Given the description of an element on the screen output the (x, y) to click on. 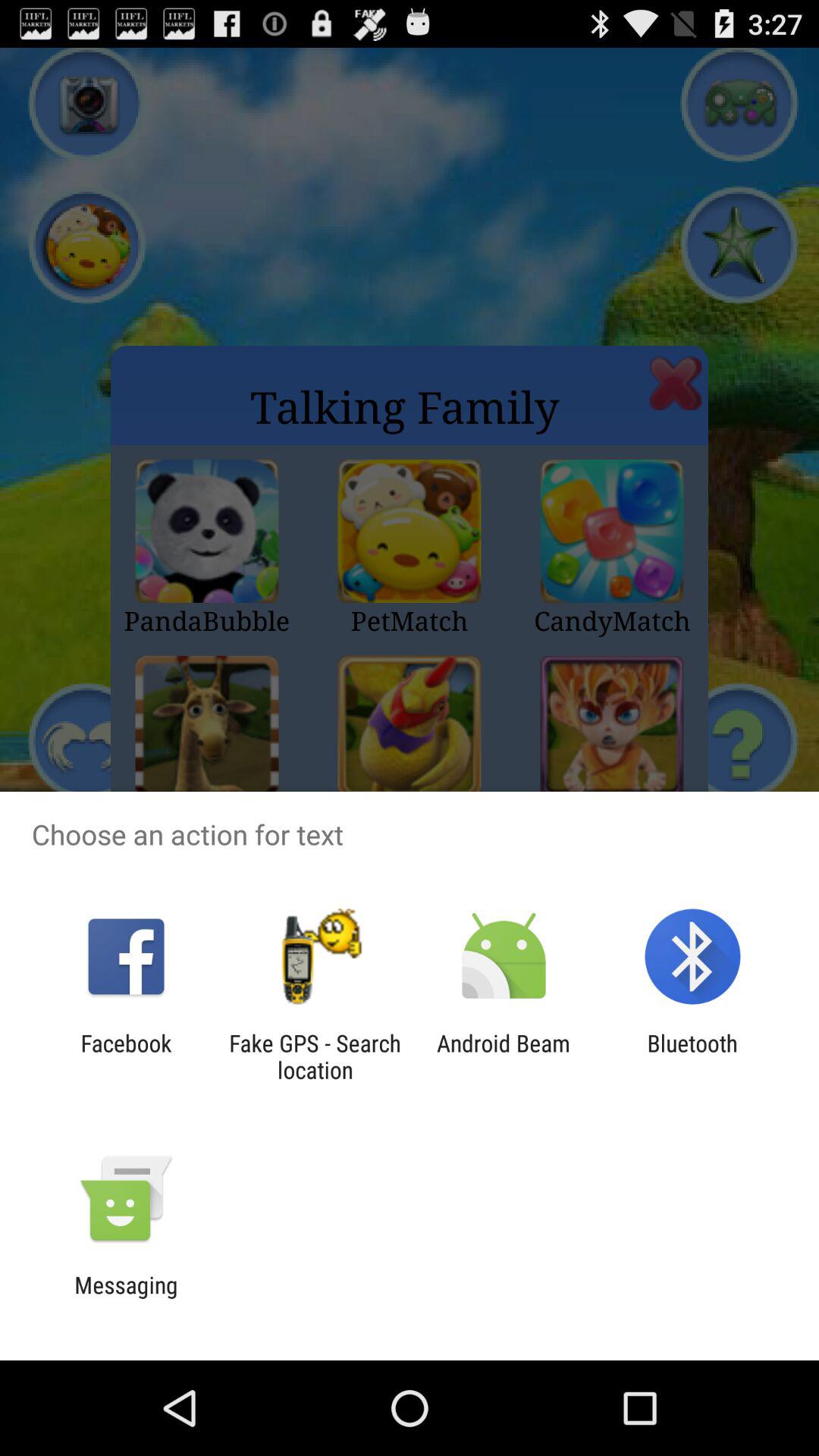
scroll until the messaging icon (126, 1298)
